Given the description of an element on the screen output the (x, y) to click on. 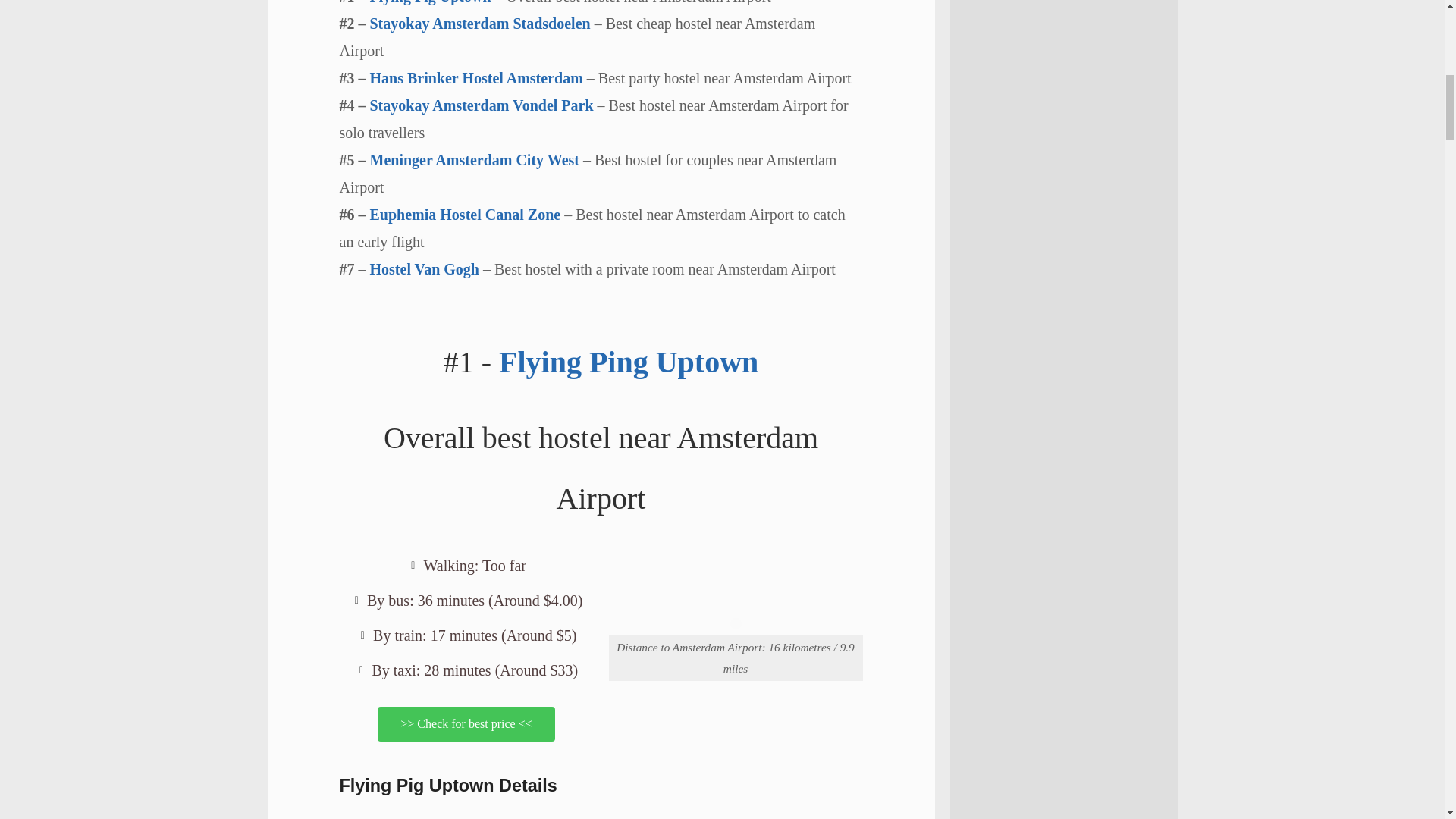
Meninger Amsterdam City West (476, 159)
Stayokay Amsterdam Stadsdoelen (480, 23)
Euphemia Hostel Canal Zone (466, 214)
Flying Ping Uptown (628, 361)
Flying Pig Uptown (430, 2)
Hans Brinker Hostel Amsterdam (476, 77)
Stayokay Amsterdam Vondel Park (482, 105)
Hostel Van Gogh (424, 269)
